Given the description of an element on the screen output the (x, y) to click on. 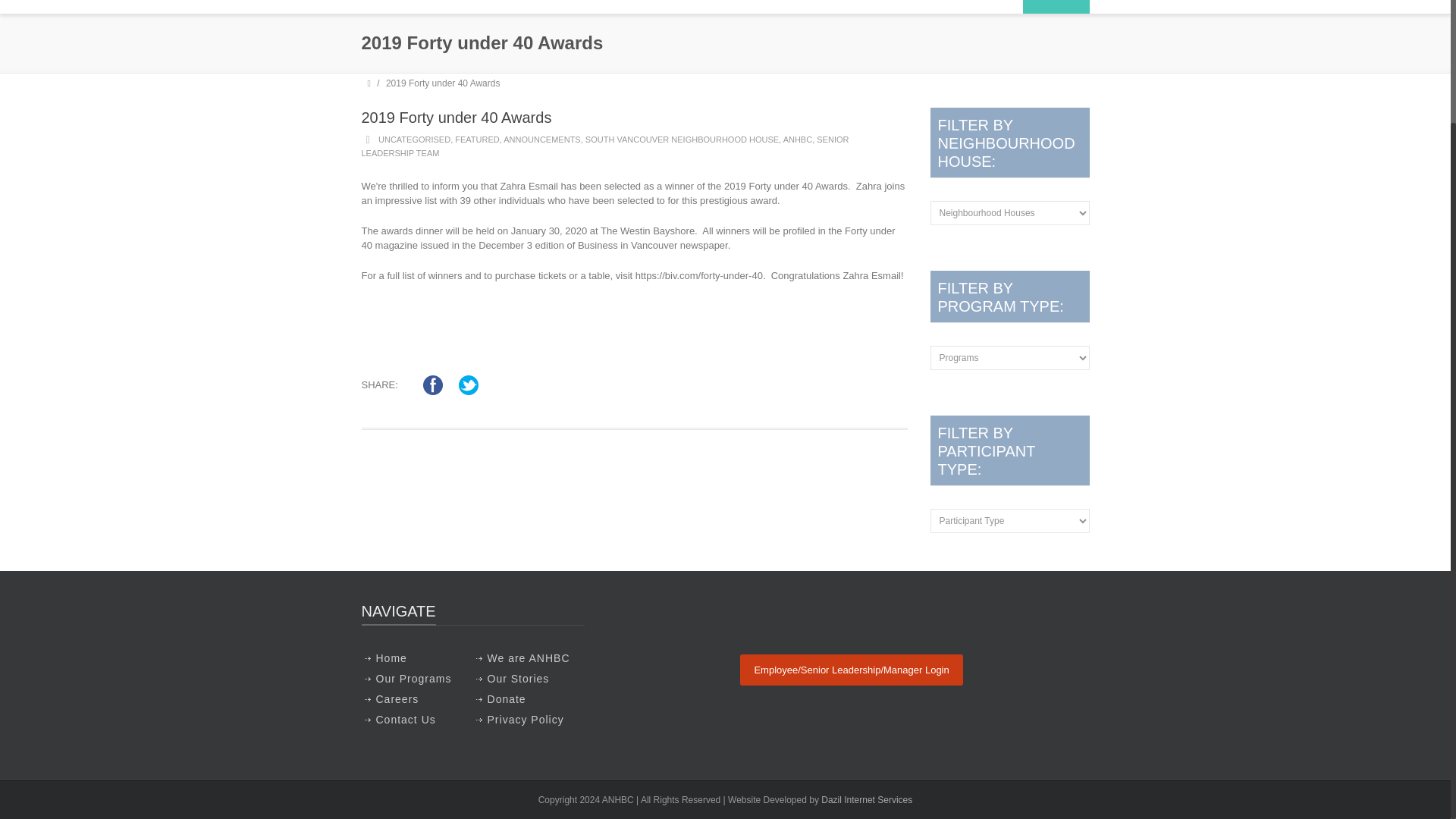
Our Impact (910, 6)
Share on Facebook (432, 385)
Our Programs (814, 6)
About Us (720, 6)
Contact Us (974, 6)
Join the Movement (1027, 6)
Donate (1056, 6)
Tweet on Twitter (468, 385)
